Given the description of an element on the screen output the (x, y) to click on. 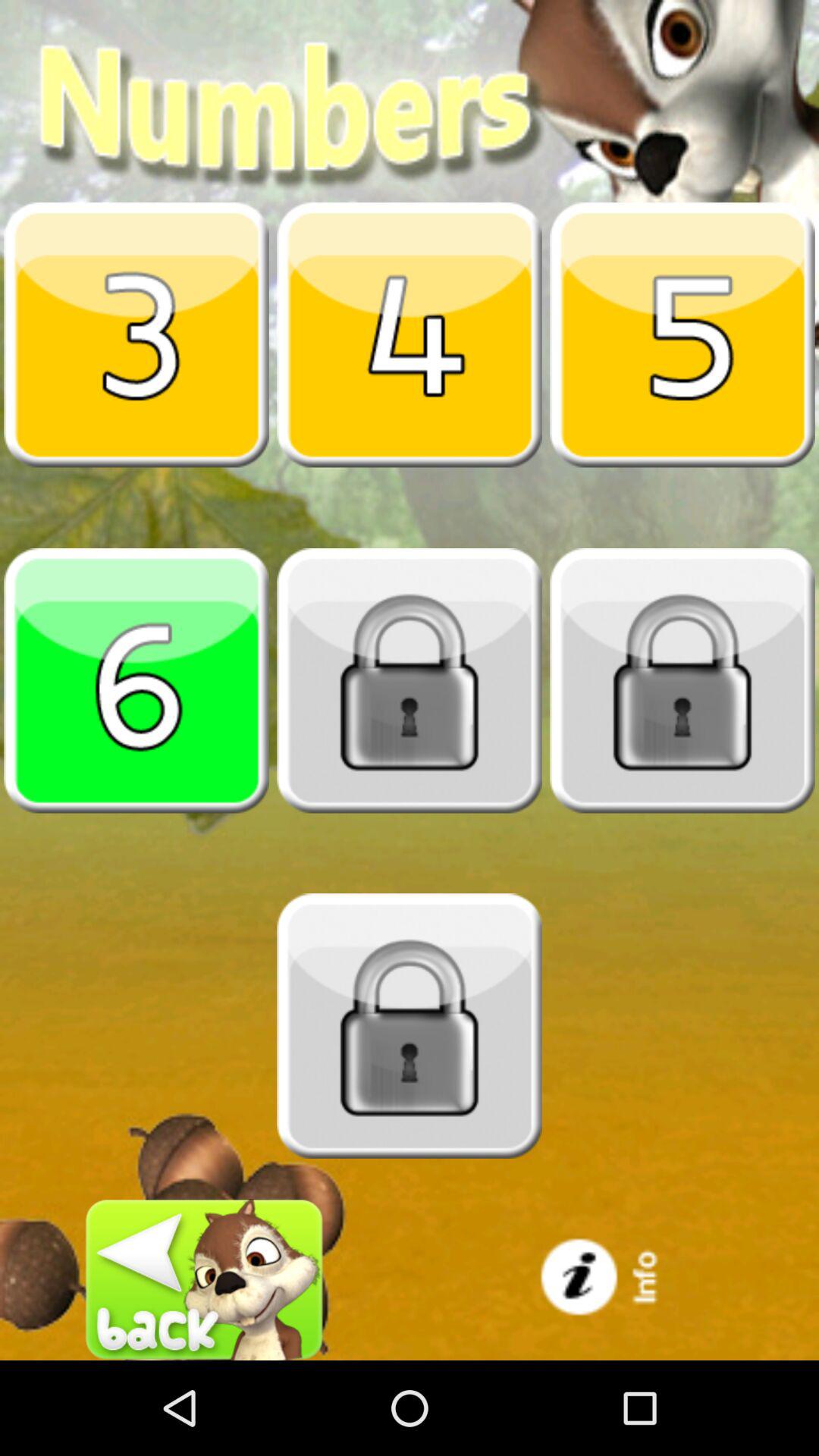
lock (409, 680)
